Given the description of an element on the screen output the (x, y) to click on. 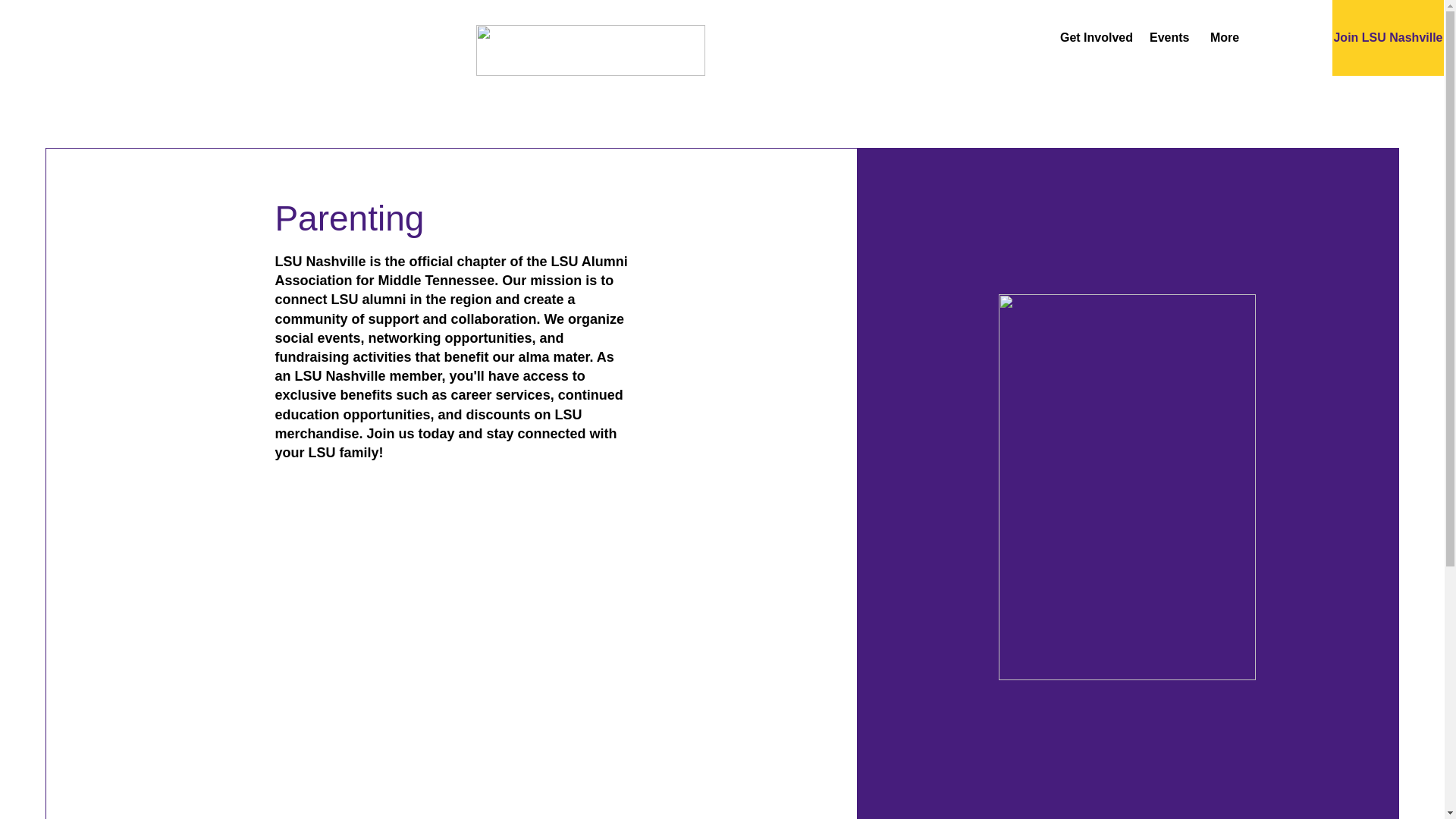
Events (1168, 37)
Get Involved (1093, 37)
Join LSU Nashville (1388, 38)
